Given the description of an element on the screen output the (x, y) to click on. 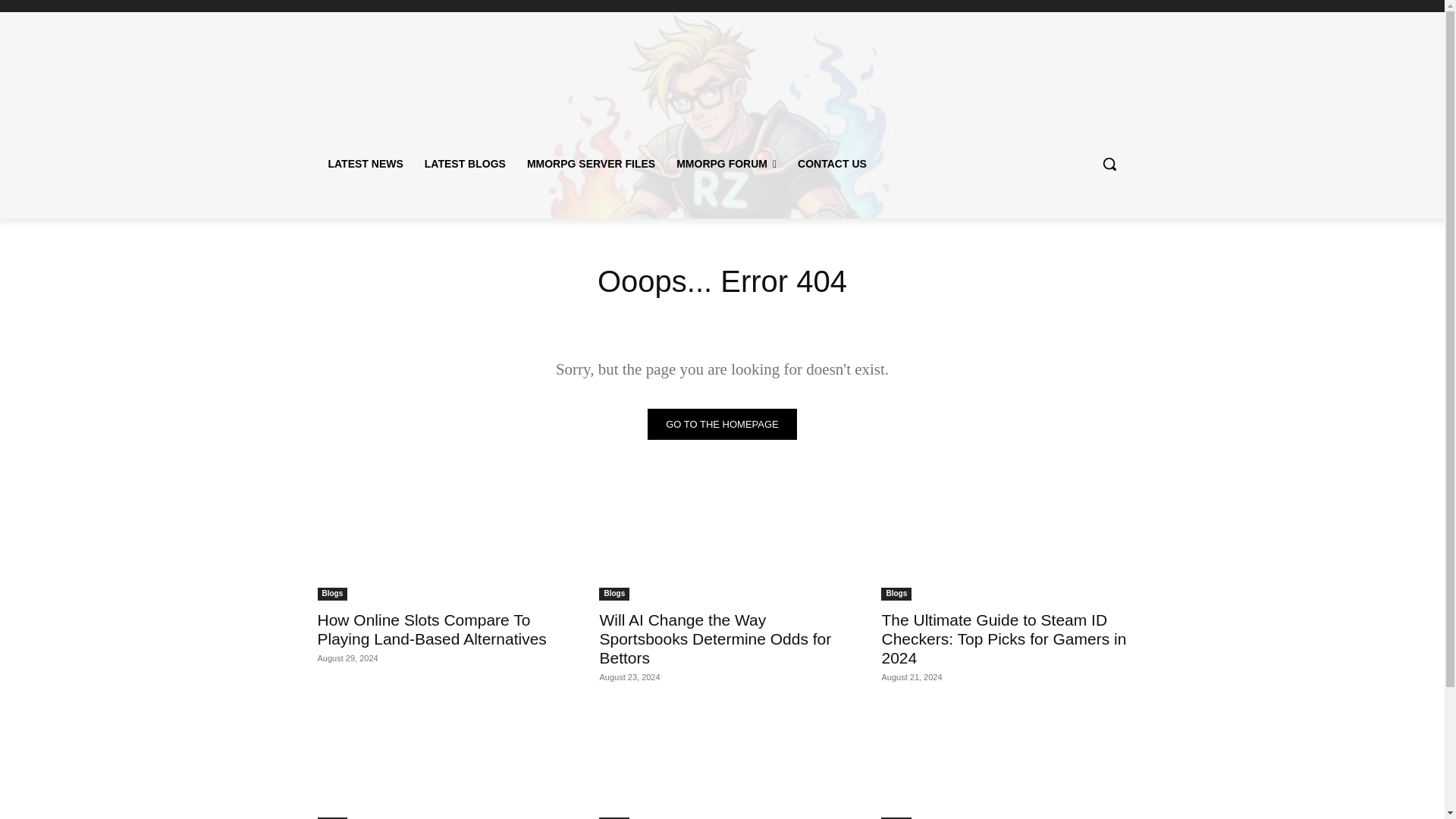
How Video Game Mechanics Are Revolutionizing iGaming in 2024 (1003, 763)
How Online Slots Compare To Playing Land-Based Alternatives (431, 628)
GO TO THE HOMEPAGE (721, 423)
CONTACT US (832, 163)
LATEST NEWS (365, 163)
LATEST BLOGS (464, 163)
How Online Slots Compare To Playing Land-Based Alternatives (431, 628)
